Given the description of an element on the screen output the (x, y) to click on. 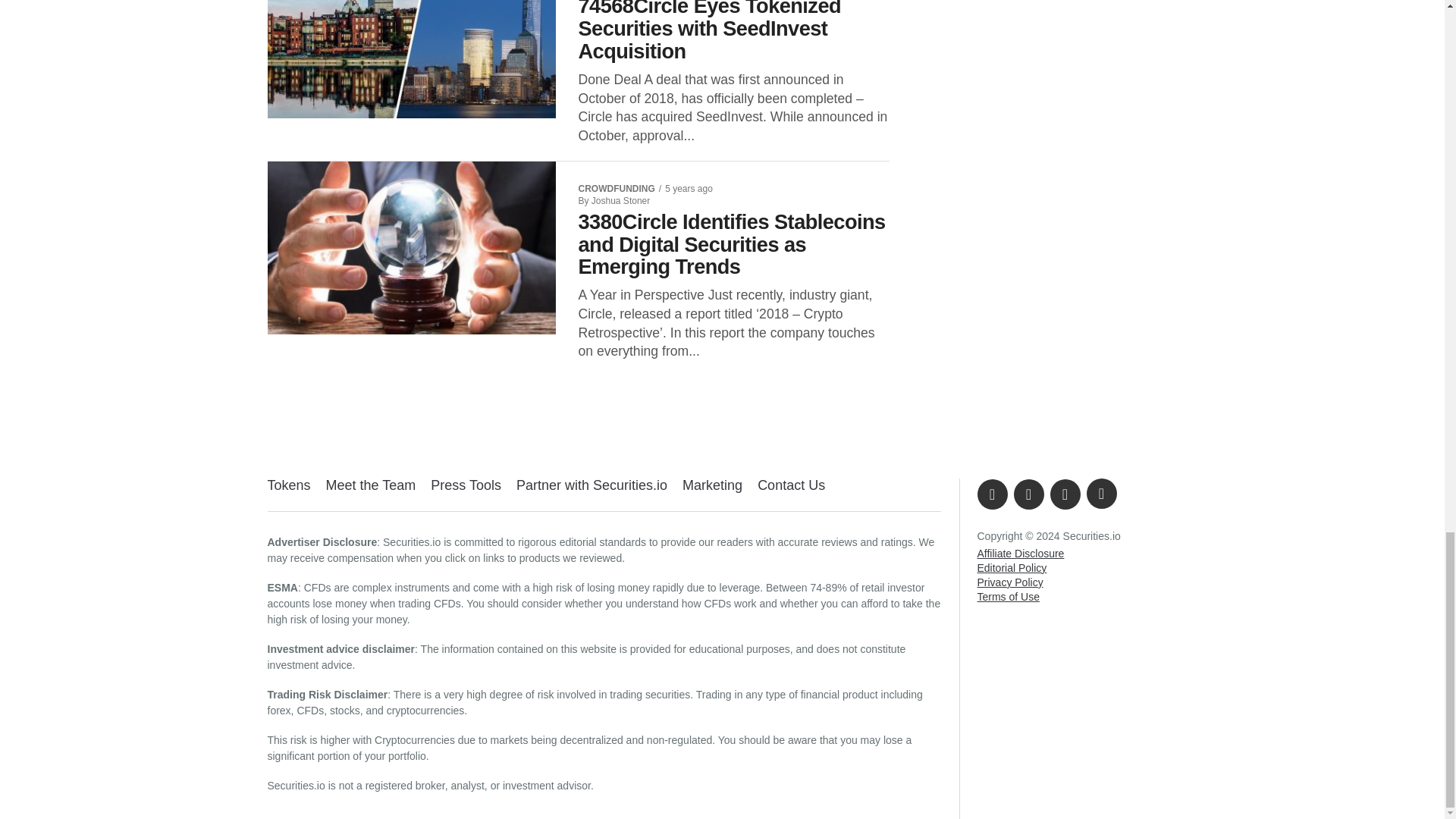
Posts by Joshua Stoner (620, 200)
